Given the description of an element on the screen output the (x, y) to click on. 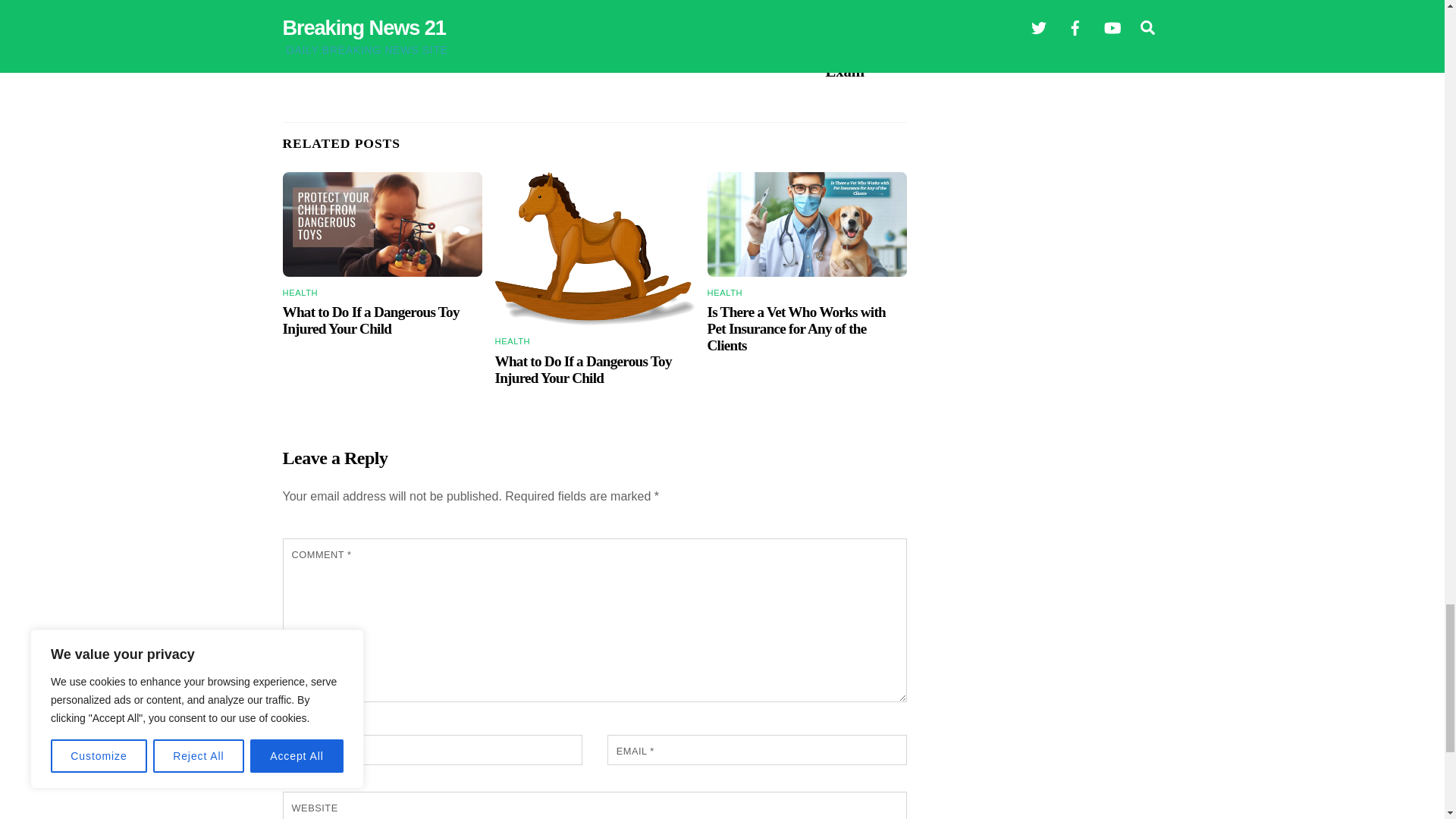
What to Do If a Dangerous Toy Injured Your Child (370, 319)
HEALTH (513, 340)
HEALTH (299, 292)
What to Do If a Dangerous Toy Injured Your Child (583, 368)
What to Do If a Dangerous Toy Injured Your Child (381, 223)
What to Do If a Dangerous Toy Injured Your Child (595, 248)
